Given the description of an element on the screen output the (x, y) to click on. 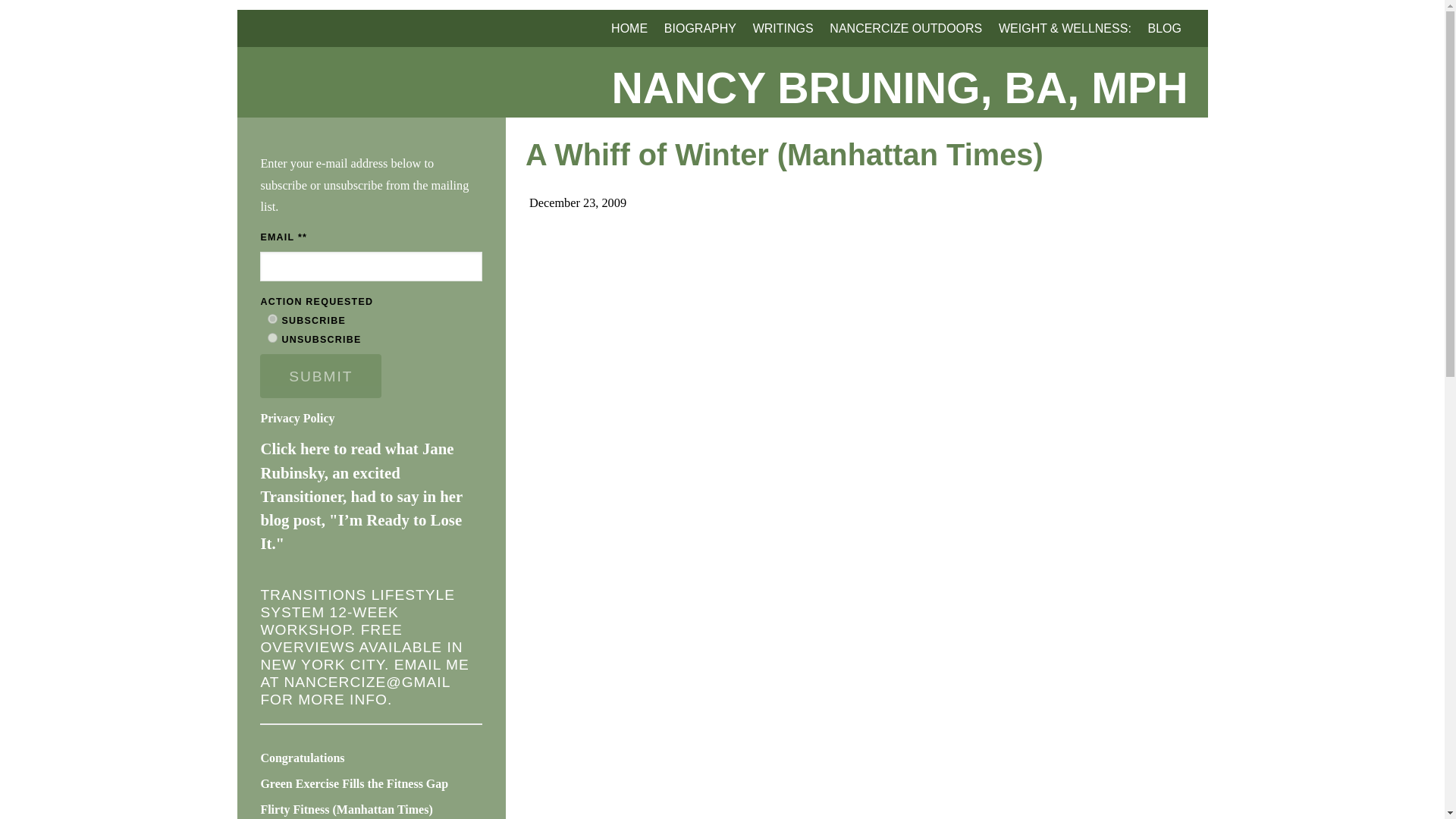
unsubscribe (272, 337)
Submit (320, 375)
BLOG (1164, 28)
NANCERCIZE OUTDOORS (906, 28)
WRITINGS (782, 28)
BIOGRAPHY (700, 28)
Green Exercise Fills the Fitness Gap (354, 783)
Submit (320, 375)
HOME (628, 28)
NANCY BRUNING, BA, MPH (722, 87)
Privacy Policy (297, 418)
subscribe (272, 318)
Congratulations (301, 757)
